Given the description of an element on the screen output the (x, y) to click on. 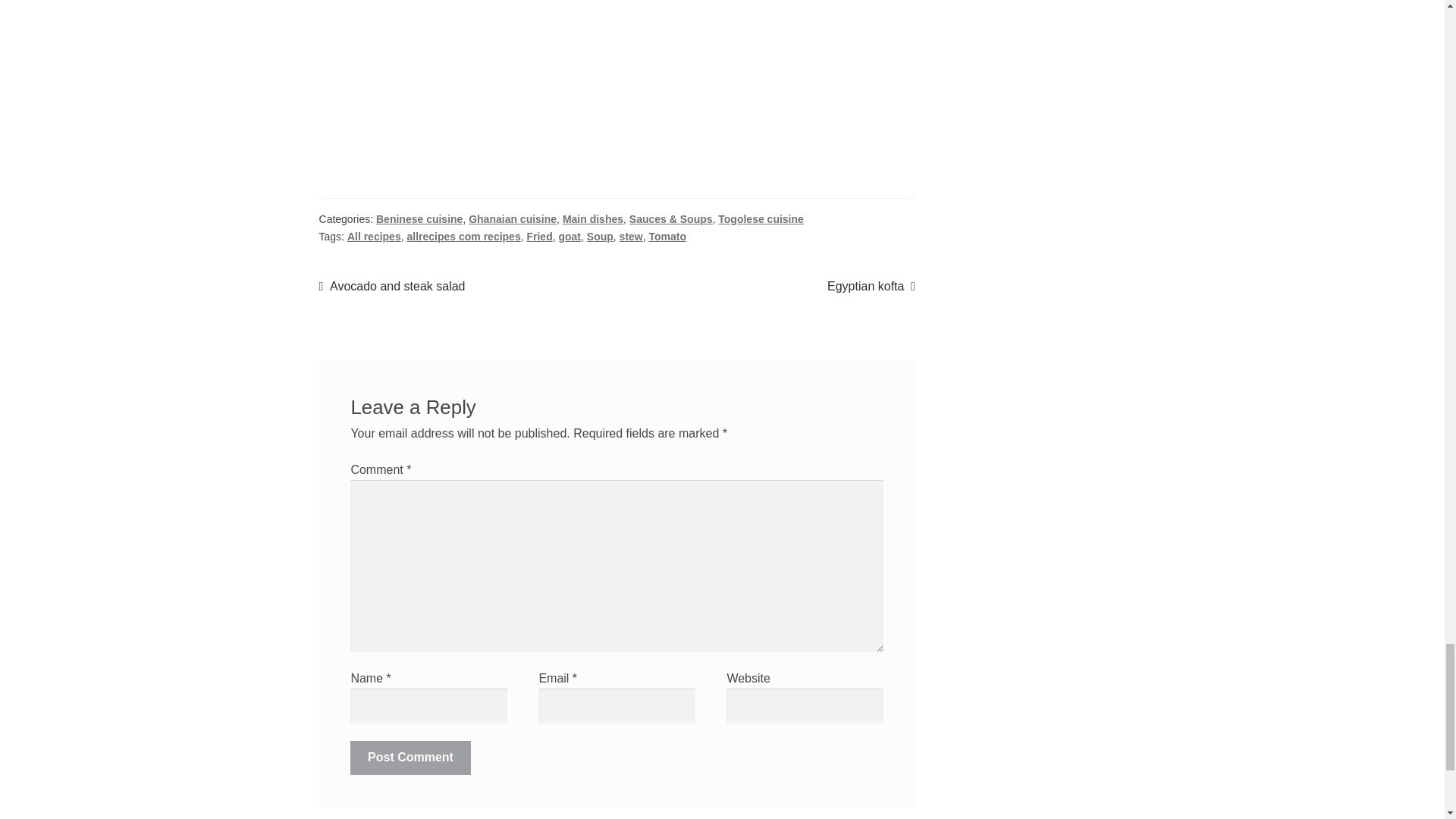
Post Comment (410, 758)
YouTube player (616, 84)
